Given the description of an element on the screen output the (x, y) to click on. 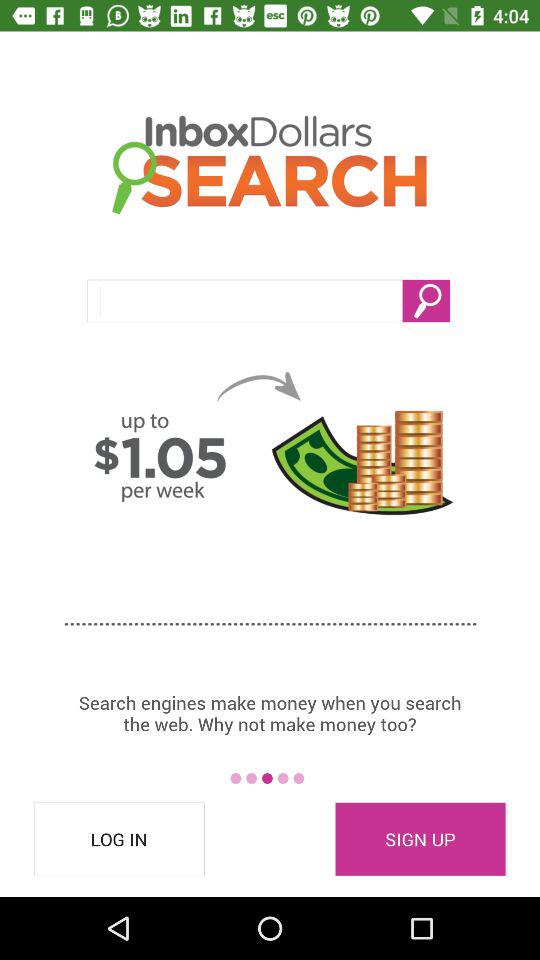
turn off the item next to sign up icon (119, 839)
